Given the description of an element on the screen output the (x, y) to click on. 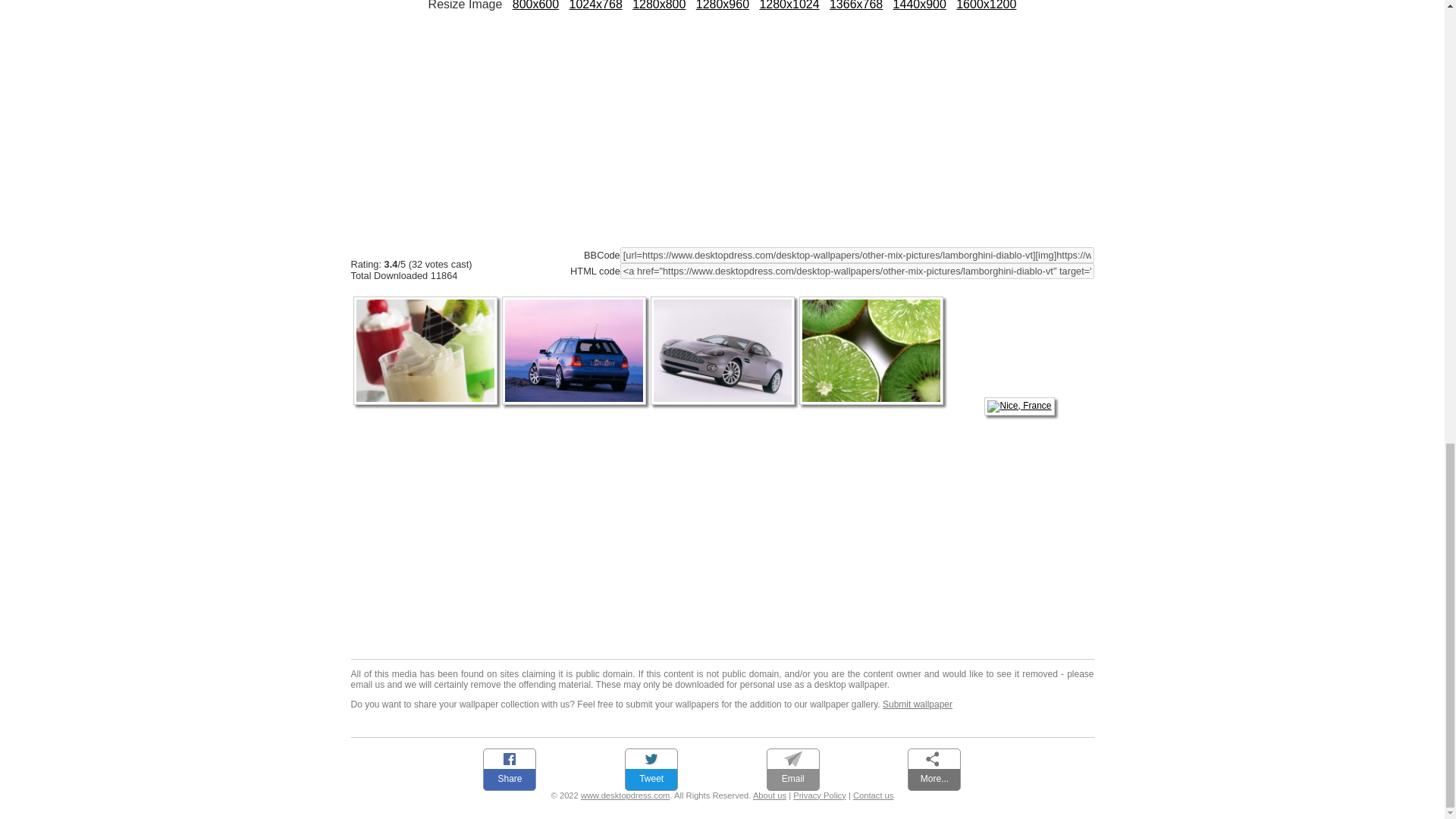
1366x768 (855, 5)
Yummy Drink (425, 405)
Download 1280 x 800 (658, 5)
Download 1024 x 768 (595, 5)
Liked it (407, 246)
Submit wallpaper (917, 704)
Download 800 x 600 (535, 5)
Kiwi Limes (871, 405)
Email (792, 766)
1280x1024 (788, 5)
Loved it (430, 246)
Share (509, 766)
Download 1280 x 960 (722, 5)
Nice, France (1019, 405)
No Vote (361, 246)
